Given the description of an element on the screen output the (x, y) to click on. 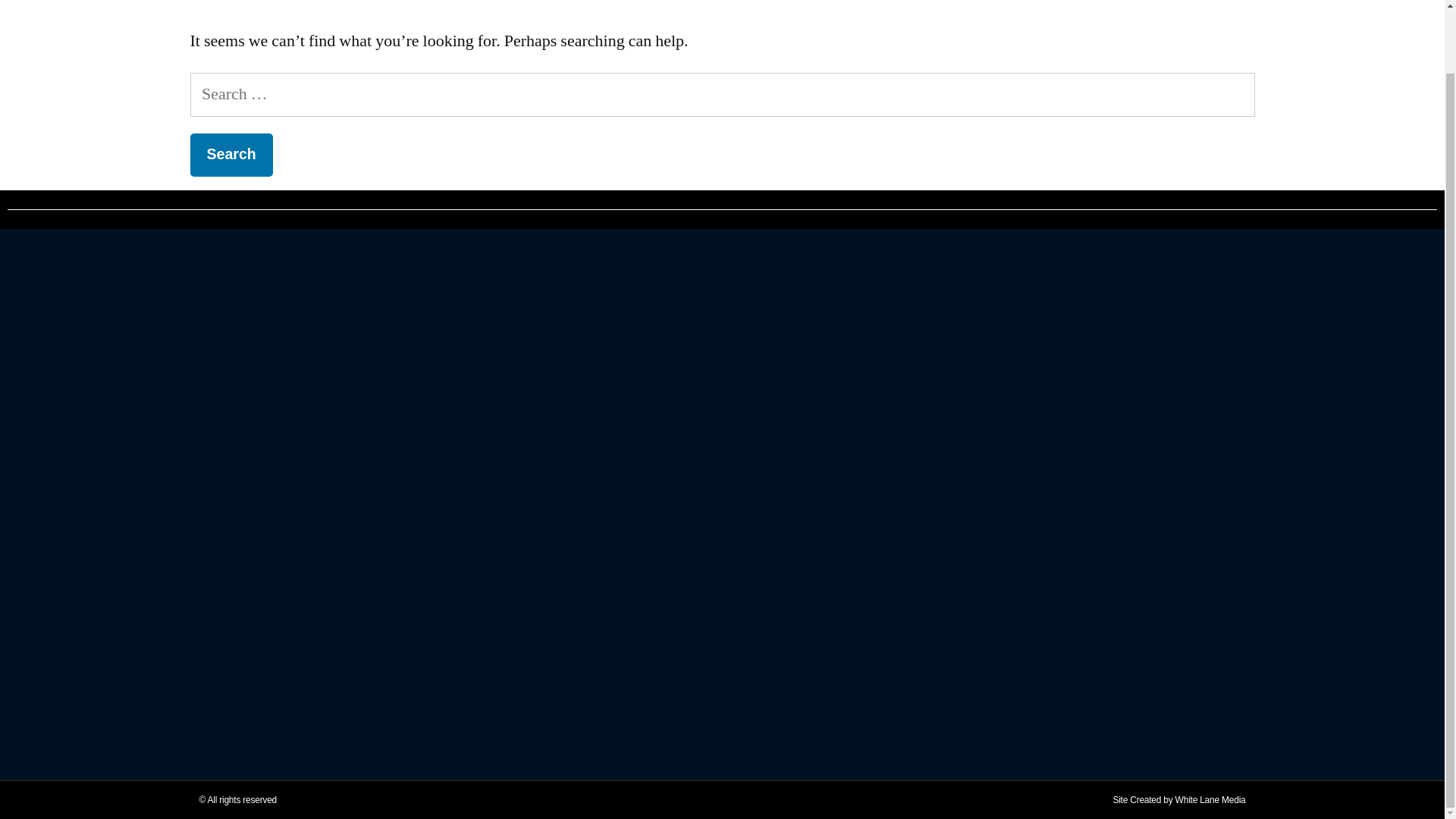
Search (230, 154)
Search (230, 154)
Search (230, 154)
